Given the description of an element on the screen output the (x, y) to click on. 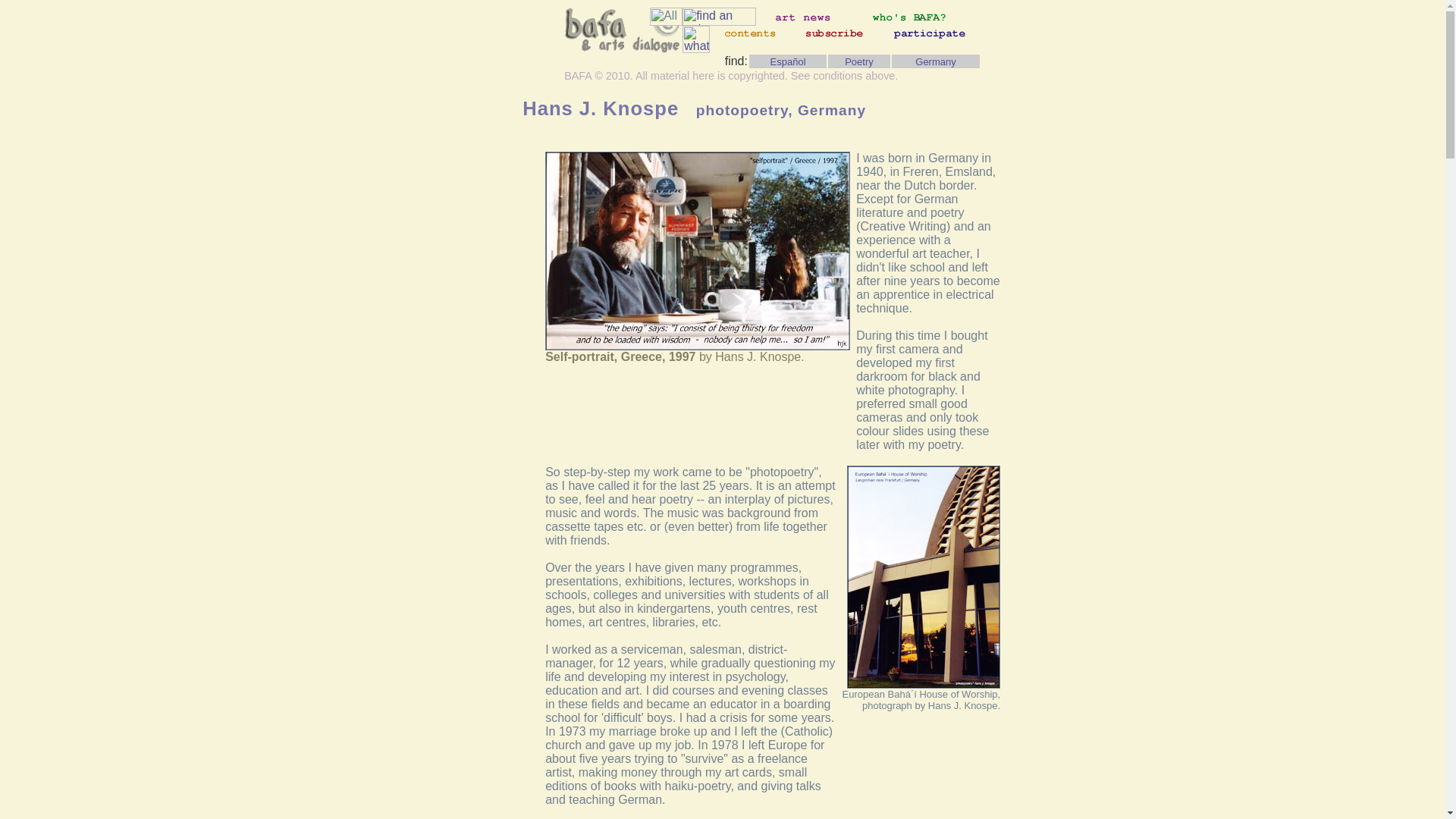
Poetry (858, 61)
Germany (935, 61)
